Given the description of an element on the screen output the (x, y) to click on. 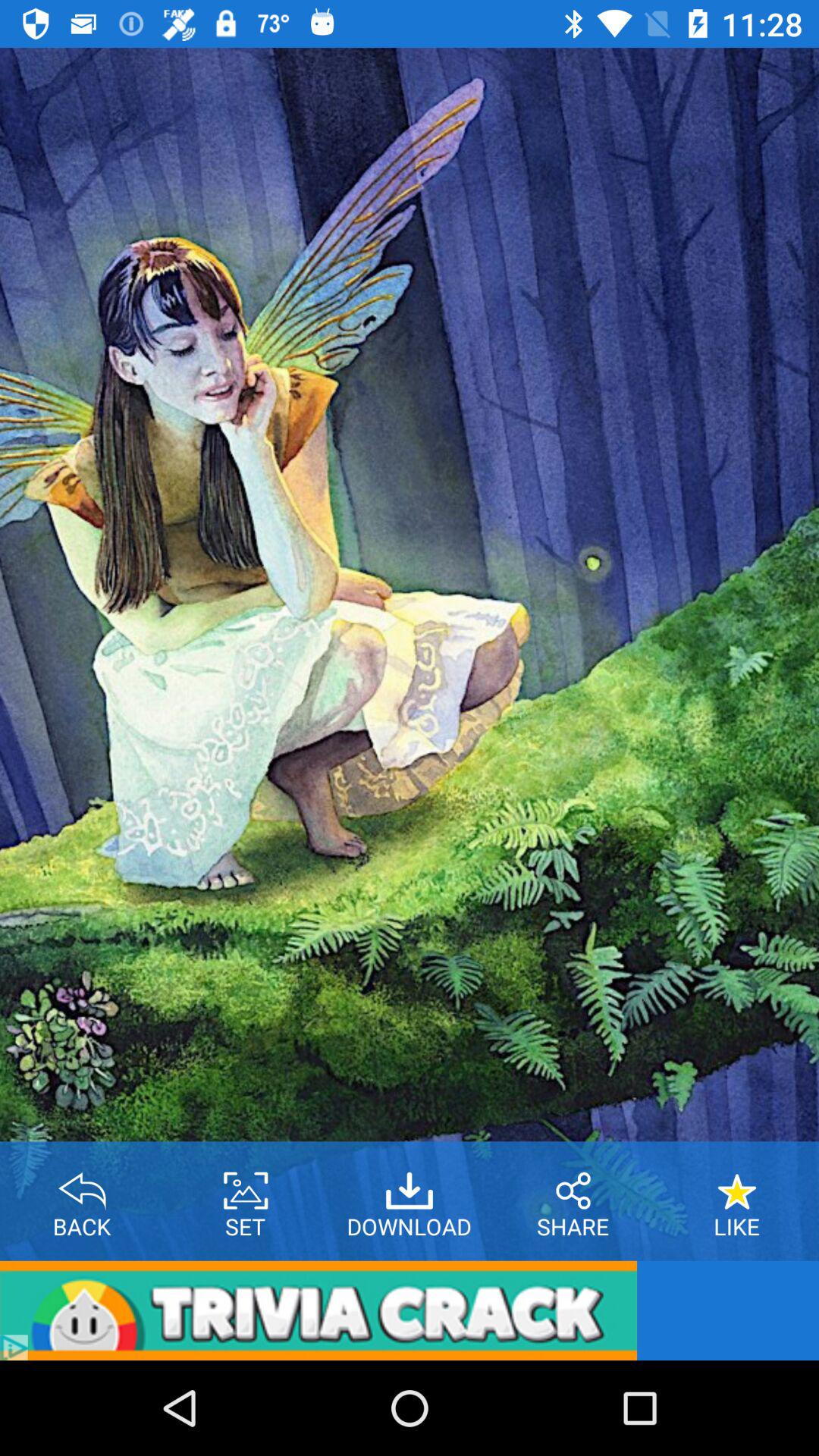
like opinion (737, 1185)
